Given the description of an element on the screen output the (x, y) to click on. 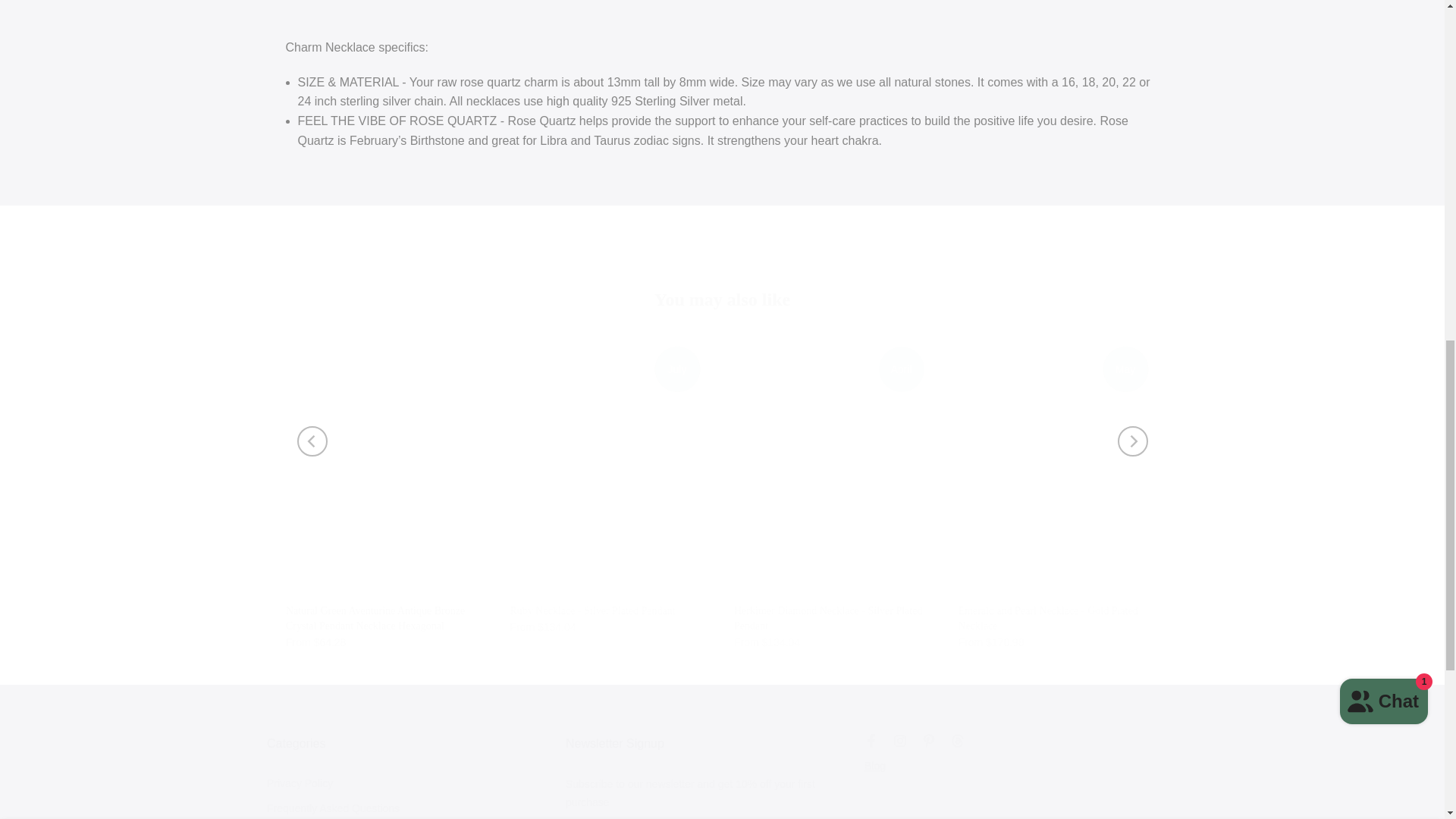
1 (927, 35)
Follow on Threads (956, 741)
Follow on Pinterest (928, 741)
Follow on Instagram (900, 741)
Follow on Facebook (870, 741)
